Given the description of an element on the screen output the (x, y) to click on. 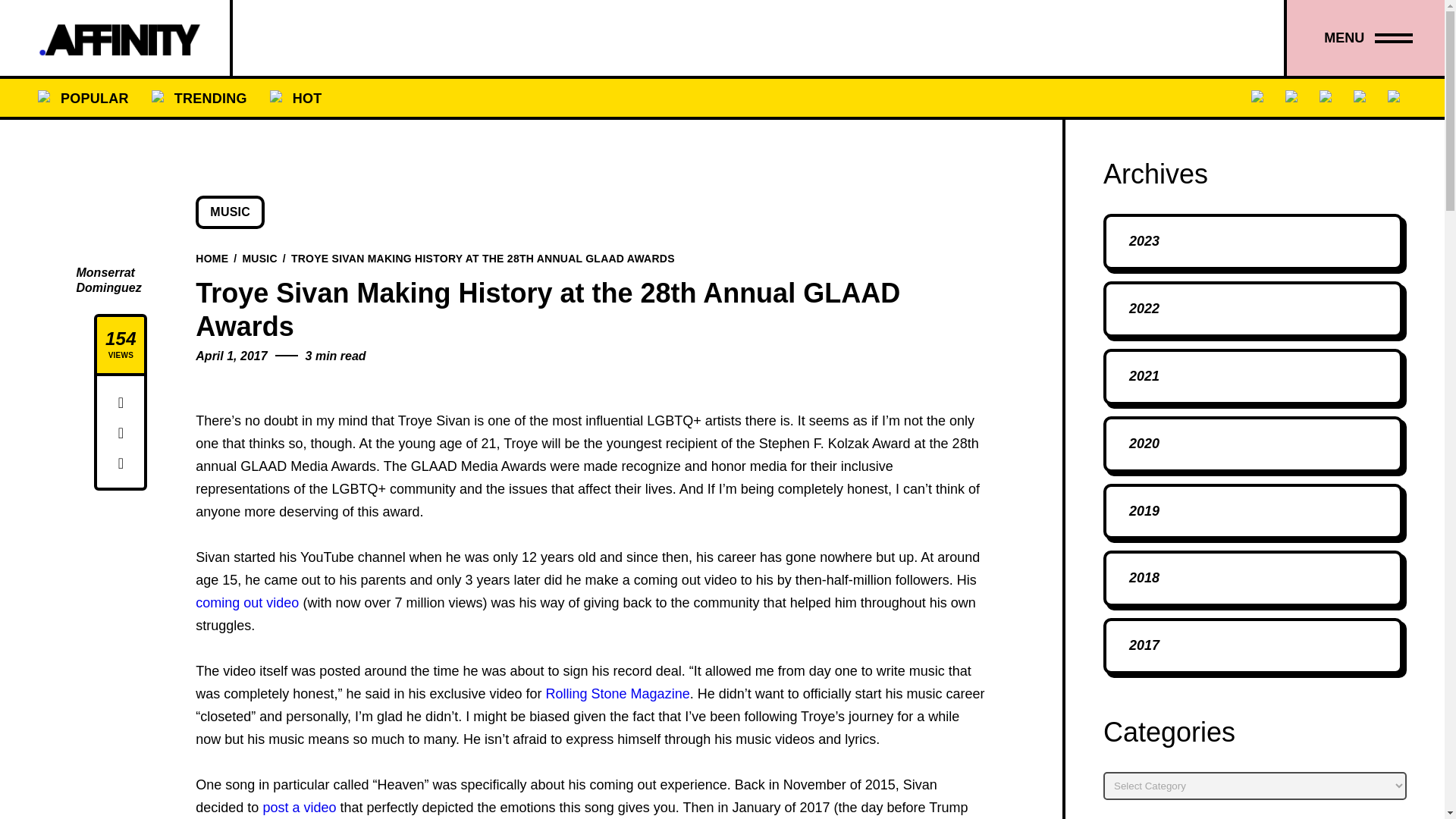
TRENDING (210, 97)
Home (211, 257)
154 (120, 339)
HOT (307, 97)
Troye Sivan Making History at the 28th Annual GLAAD Awards (483, 257)
POPULAR (94, 97)
